Given the description of an element on the screen output the (x, y) to click on. 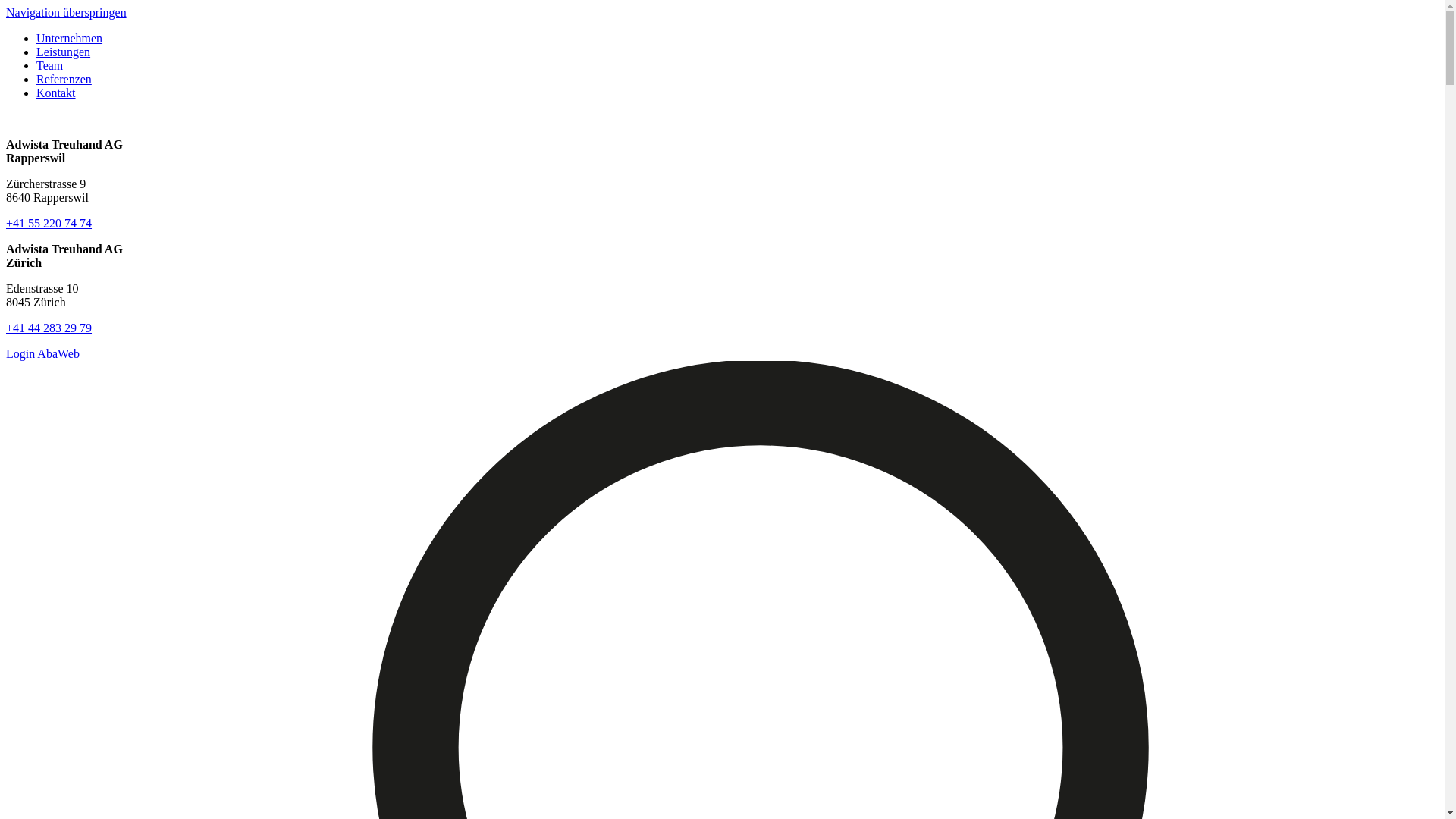
Unternehmen Element type: text (69, 37)
+41 55 220 74 74 Element type: text (48, 222)
+41 44 283 29 79 Element type: text (48, 327)
Kontakt Element type: text (55, 92)
Team Element type: text (49, 65)
Leistungen Element type: text (63, 51)
  Element type: text (7, 118)
Referenzen Element type: text (63, 78)
